Given the description of an element on the screen output the (x, y) to click on. 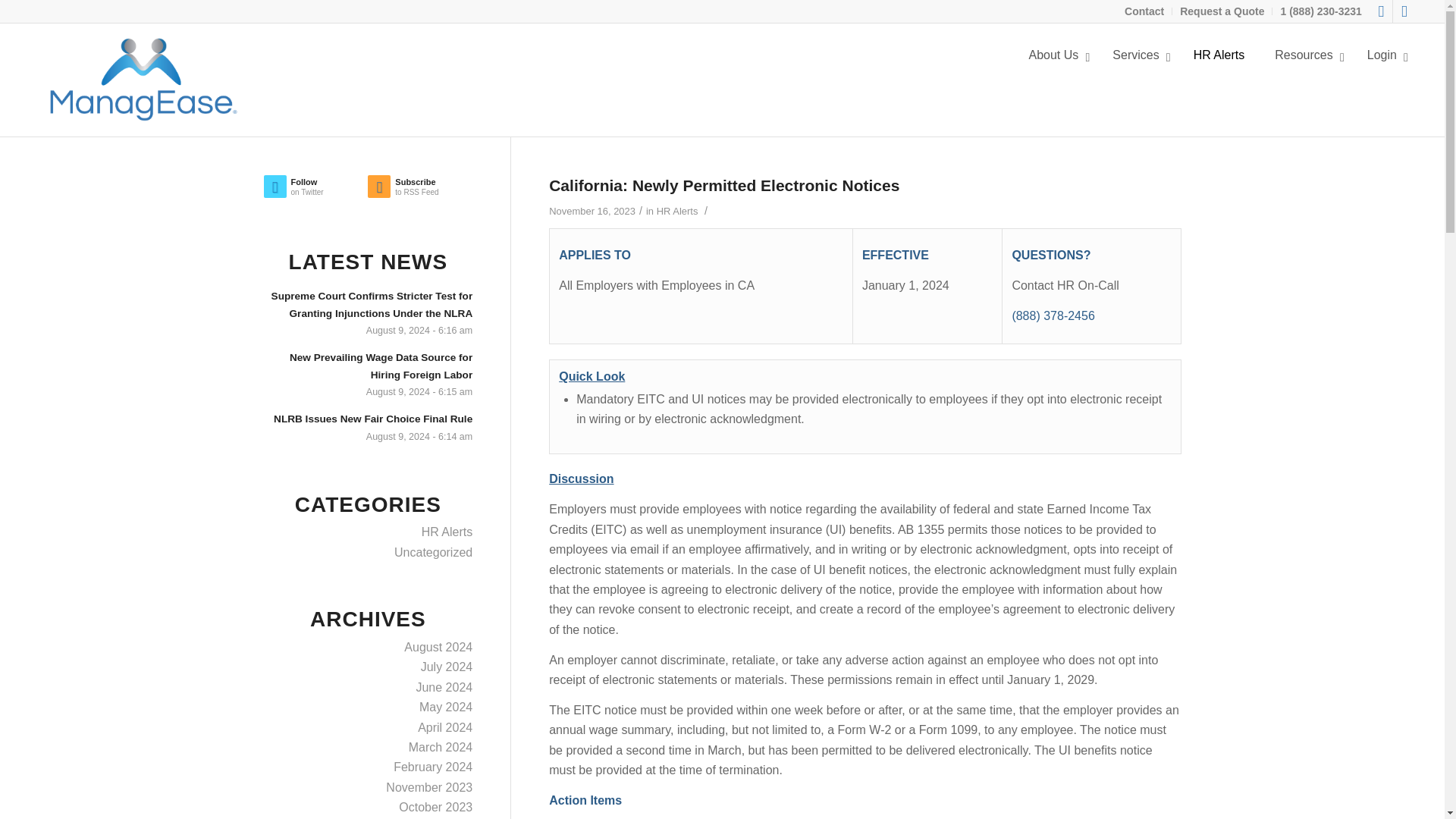
Linkedin (1404, 11)
Twitter (1380, 11)
Request a Quote (1221, 11)
Contact (1143, 11)
About Us (1055, 55)
Services (1137, 55)
HR Alerts (722, 55)
Resources (1218, 55)
